Given the description of an element on the screen output the (x, y) to click on. 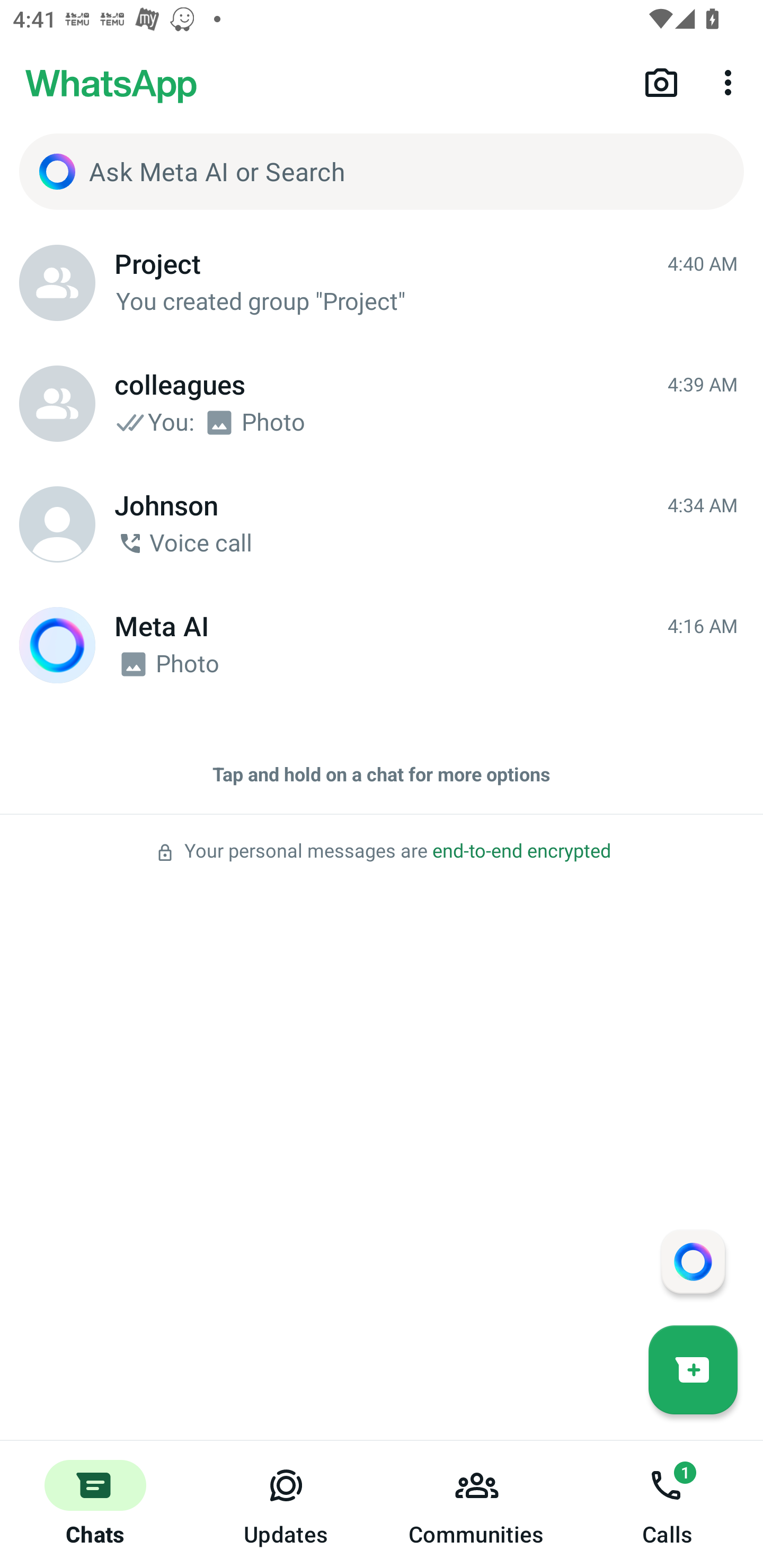
Camera (661, 81)
More options (731, 81)
Project (57, 282)
colleagues colleagues 4:39 AM 4:39 AM You:  Photo (381, 403)
colleagues (57, 403)
Johnson Johnson 4:34 AM 4:34 AM Voice call (381, 524)
Johnson (57, 524)
Meta AI Meta AI 4:16 AM 4:16 AM Photo (381, 644)
Meta AI (57, 644)
end-to-end encrypted (521, 851)
Message your assistant (692, 1261)
New chat (692, 1369)
Updates (285, 1504)
Communities (476, 1504)
Calls, 1 new notification Calls (667, 1504)
